Given the description of an element on the screen output the (x, y) to click on. 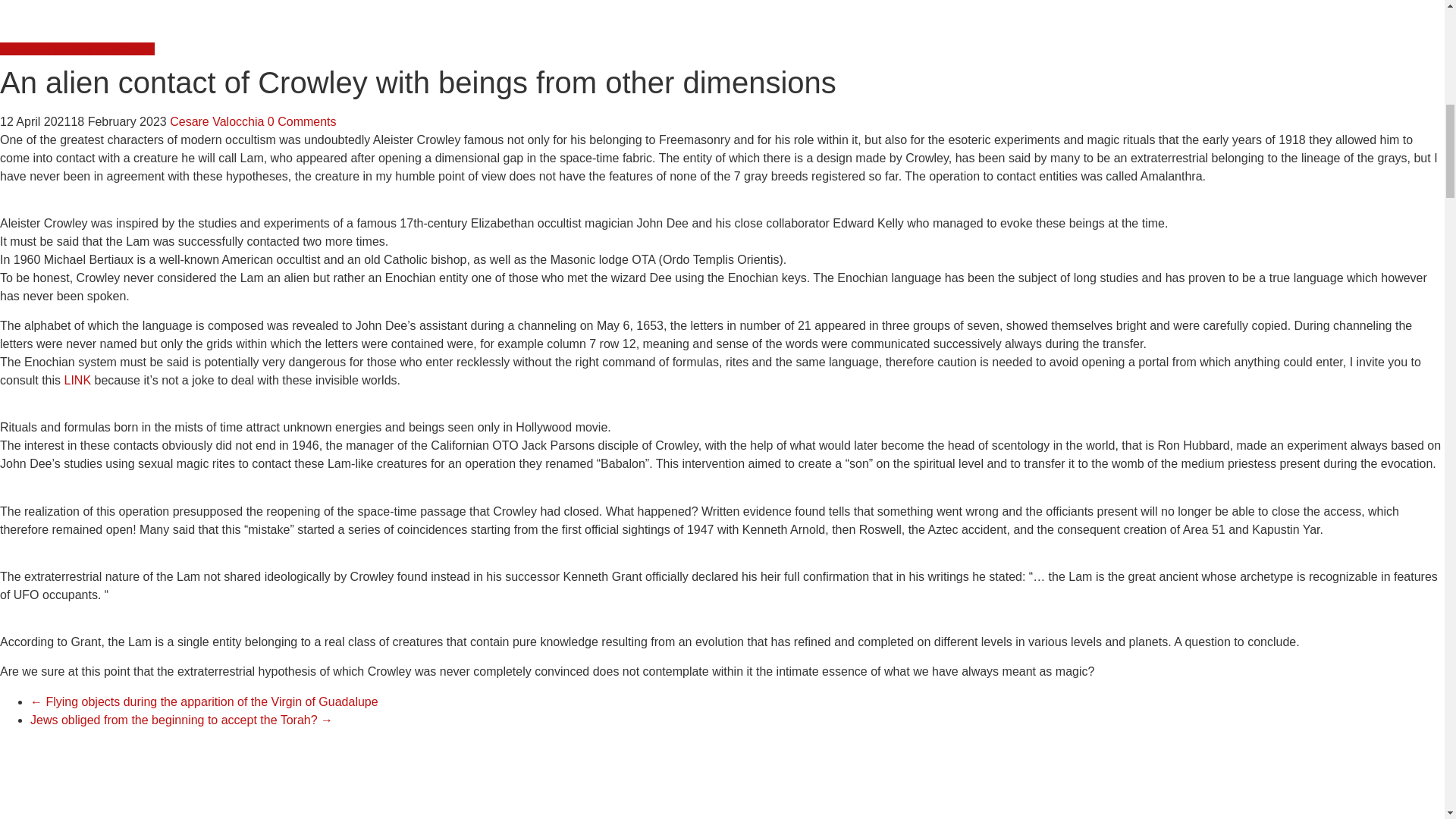
Cesare Valocchia (218, 121)
Cesare Valocchia (218, 121)
Inhabited parallel universes? (77, 48)
0 Comments (301, 121)
LINK (77, 379)
